Given the description of an element on the screen output the (x, y) to click on. 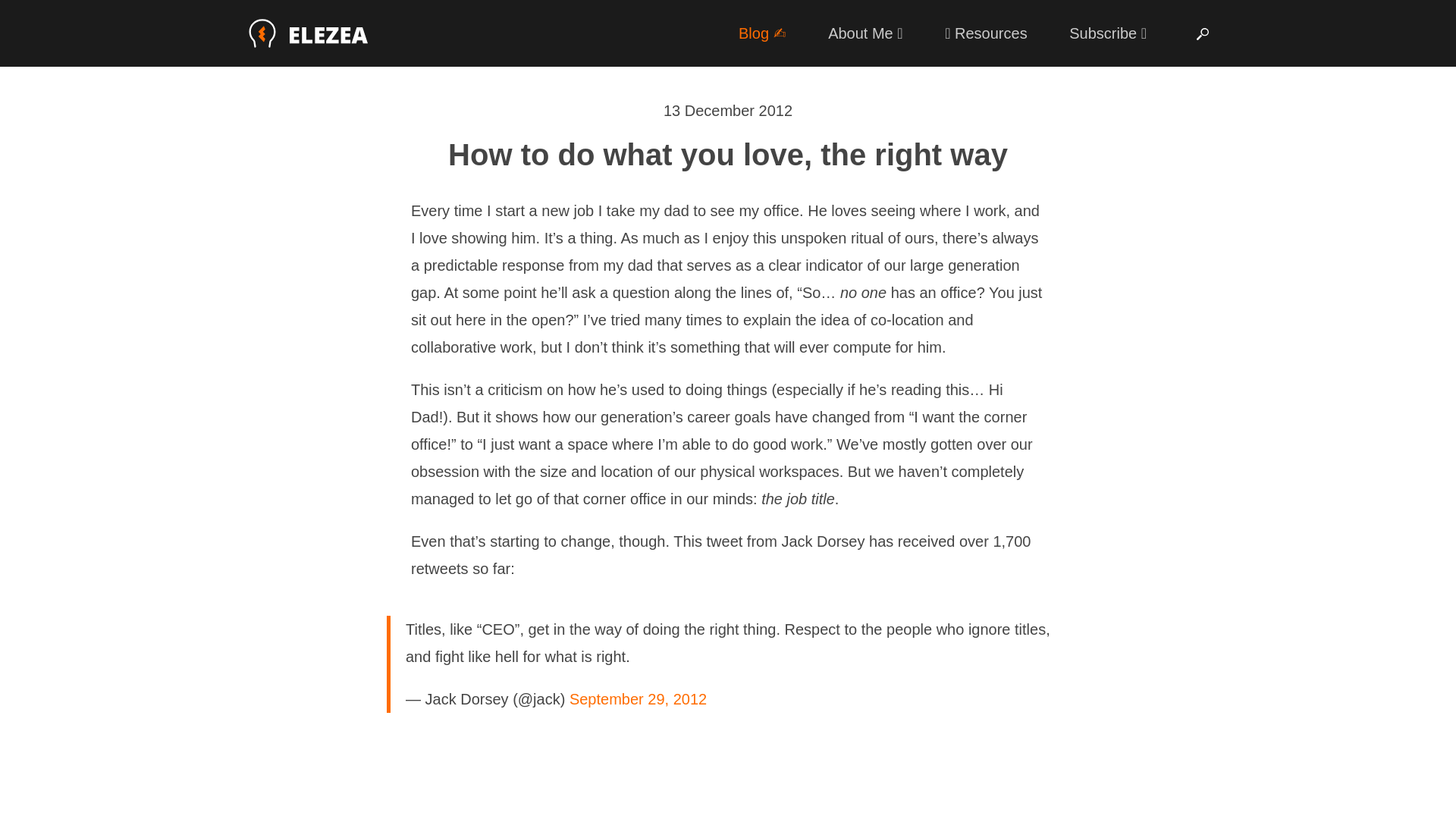
September 29, 2012 (637, 699)
Search (1202, 34)
Elezea (309, 33)
